Given the description of an element on the screen output the (x, y) to click on. 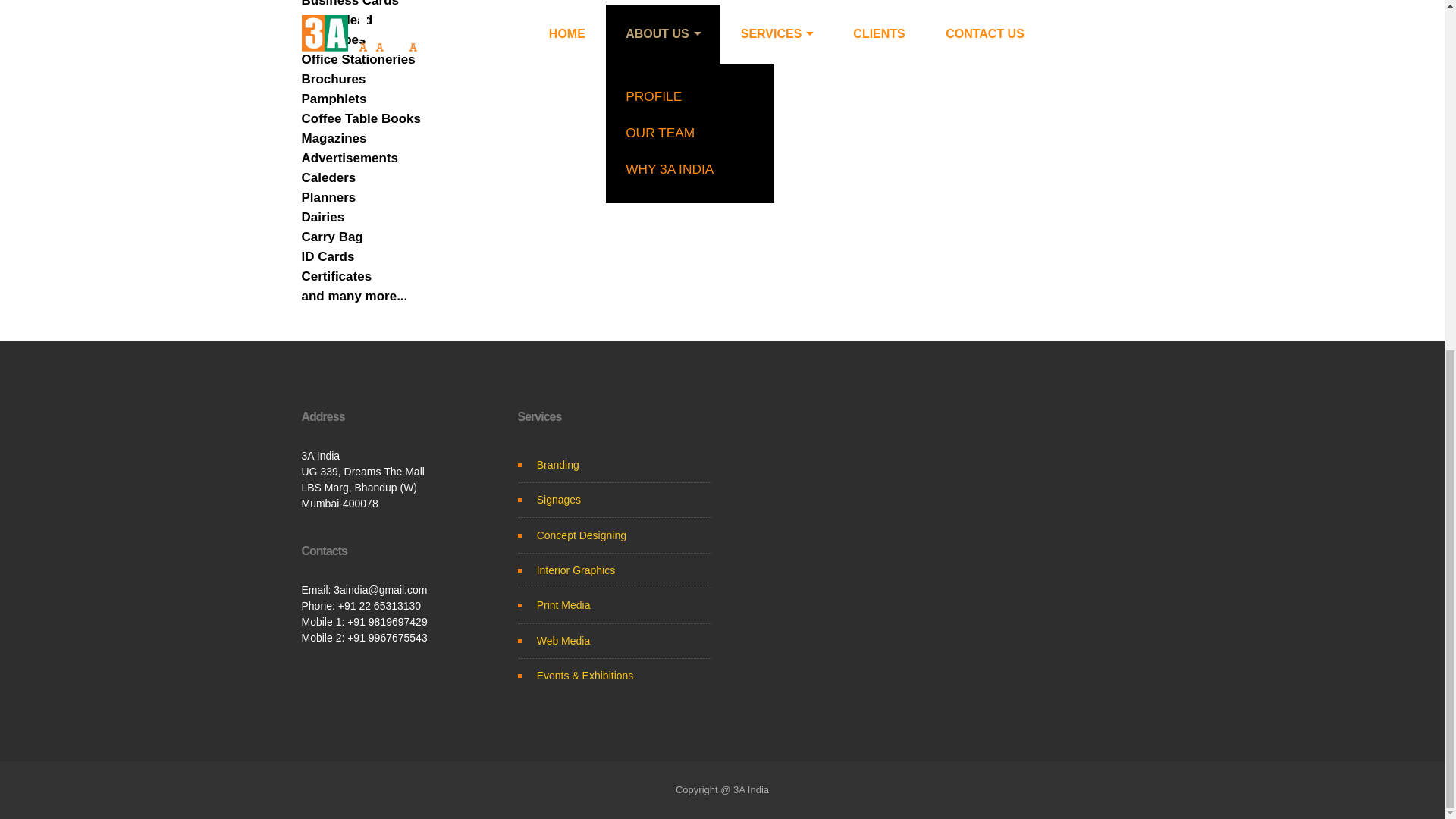
Branding (558, 464)
Concept Designing (581, 535)
Signages (558, 499)
Print Media (564, 604)
Interior Graphics (575, 570)
Web Media (564, 640)
